Given the description of an element on the screen output the (x, y) to click on. 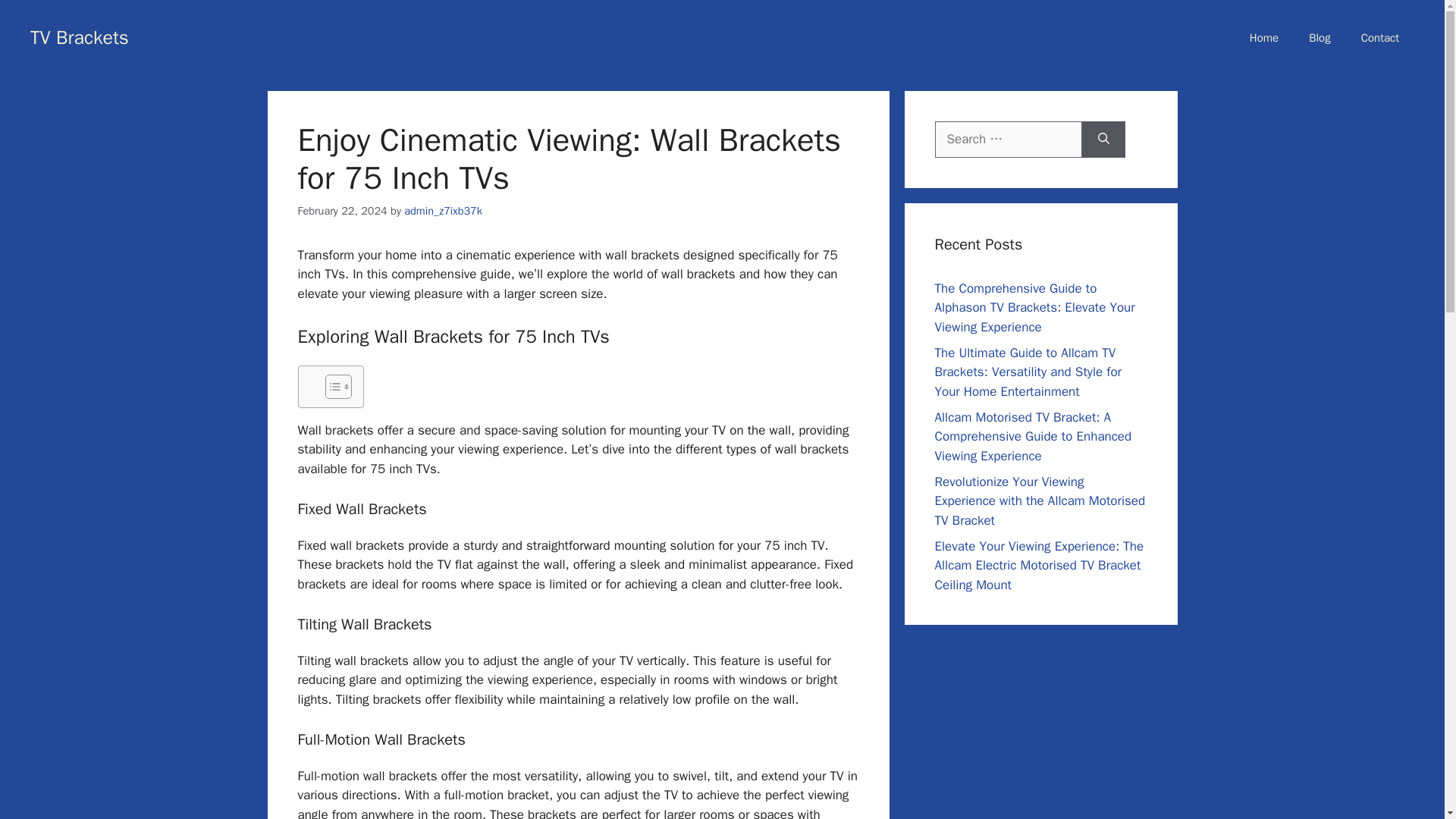
Home (1264, 37)
Search for: (1007, 139)
Blog (1319, 37)
TV Brackets (79, 37)
Contact (1379, 37)
